Given the description of an element on the screen output the (x, y) to click on. 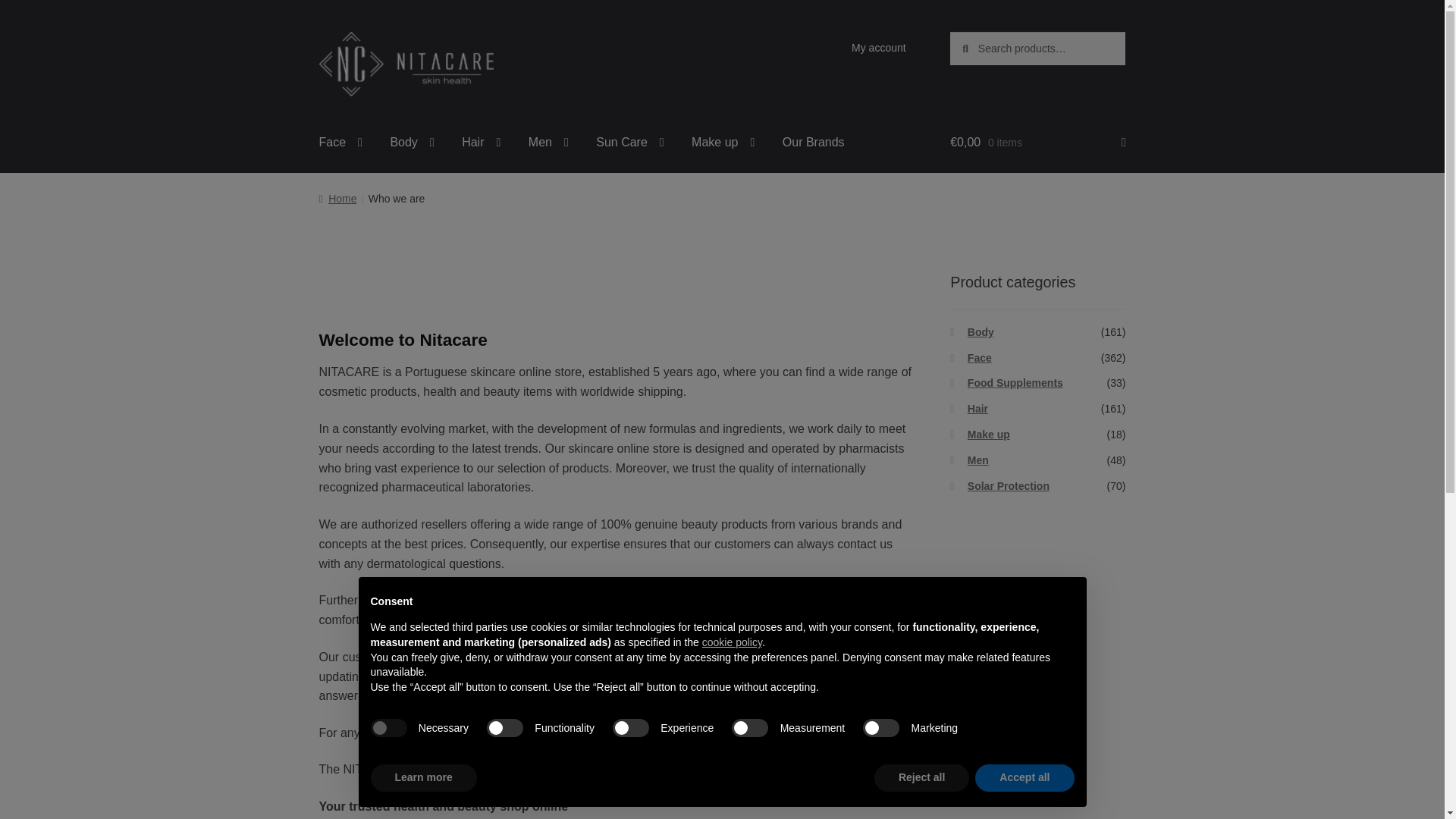
false (504, 728)
false (750, 728)
true (387, 728)
Body (411, 142)
false (881, 728)
Face (340, 142)
My account (879, 47)
View your shopping cart (1037, 142)
